Given the description of an element on the screen output the (x, y) to click on. 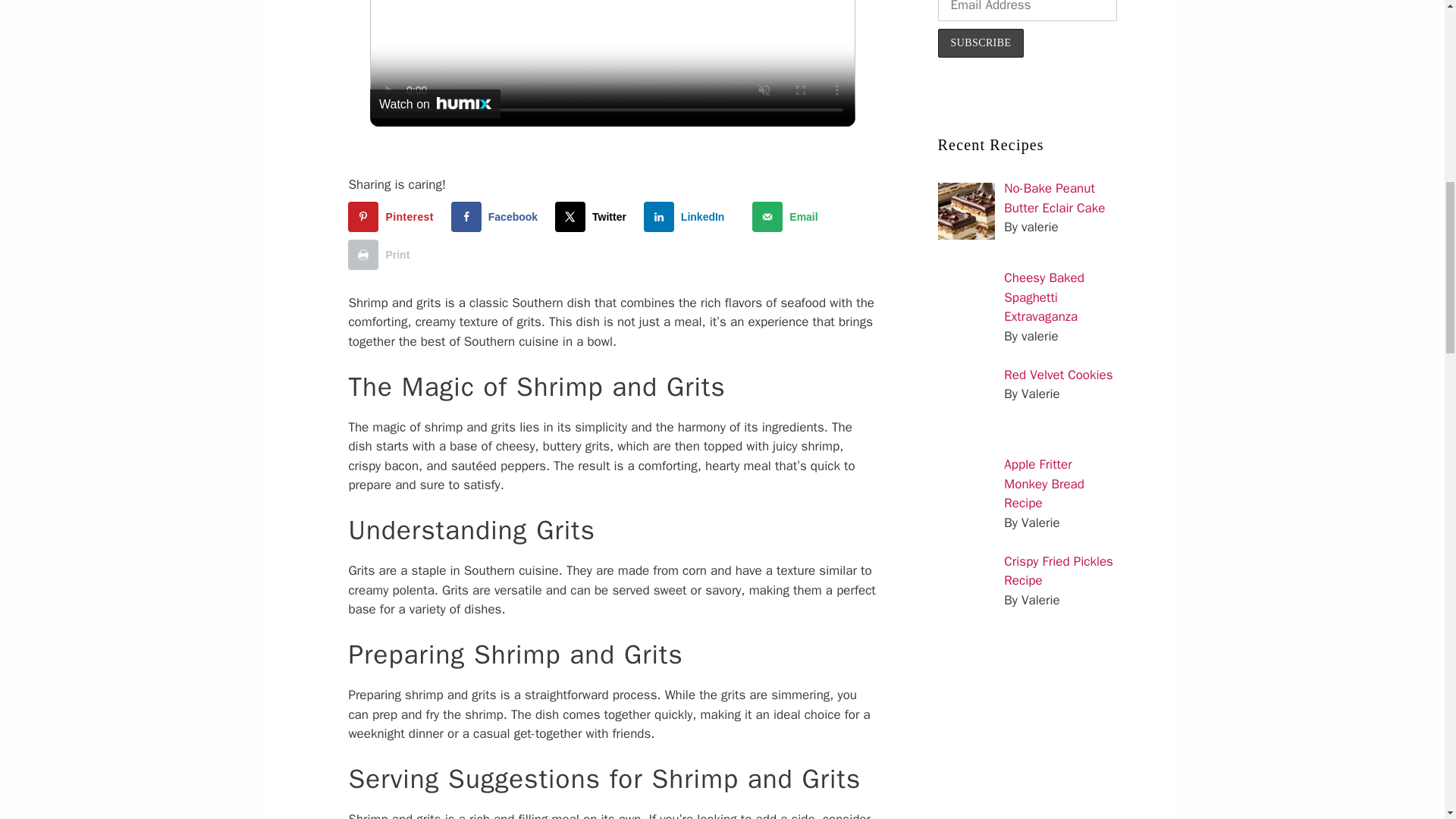
LinkedIn (687, 216)
Save to Pinterest (393, 216)
Share on X (593, 216)
Subscribe (981, 42)
Twitter (593, 216)
Facebook (497, 216)
Share on LinkedIn (687, 216)
Send over email (788, 216)
Email (788, 216)
Pinterest (393, 216)
Watch on (434, 103)
Print (381, 254)
Share on Facebook (497, 216)
